Given the description of an element on the screen output the (x, y) to click on. 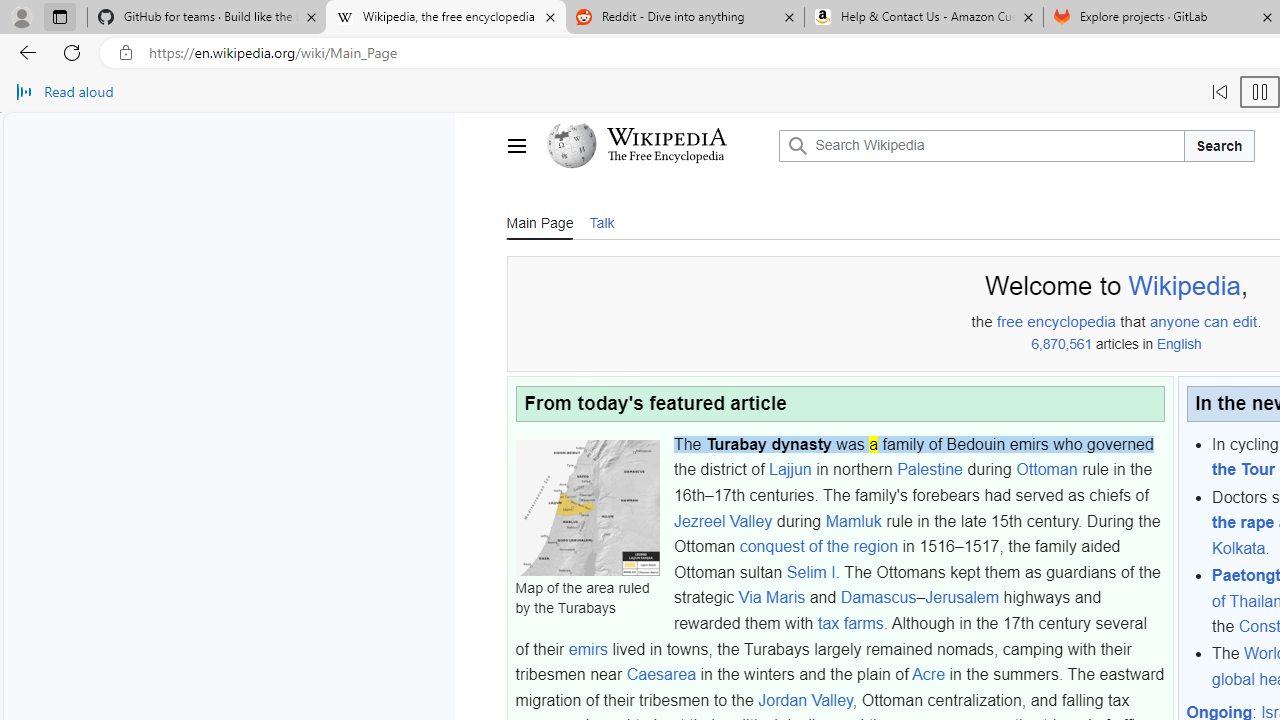
Turabay dynasty (768, 443)
English (1178, 344)
